Given the description of an element on the screen output the (x, y) to click on. 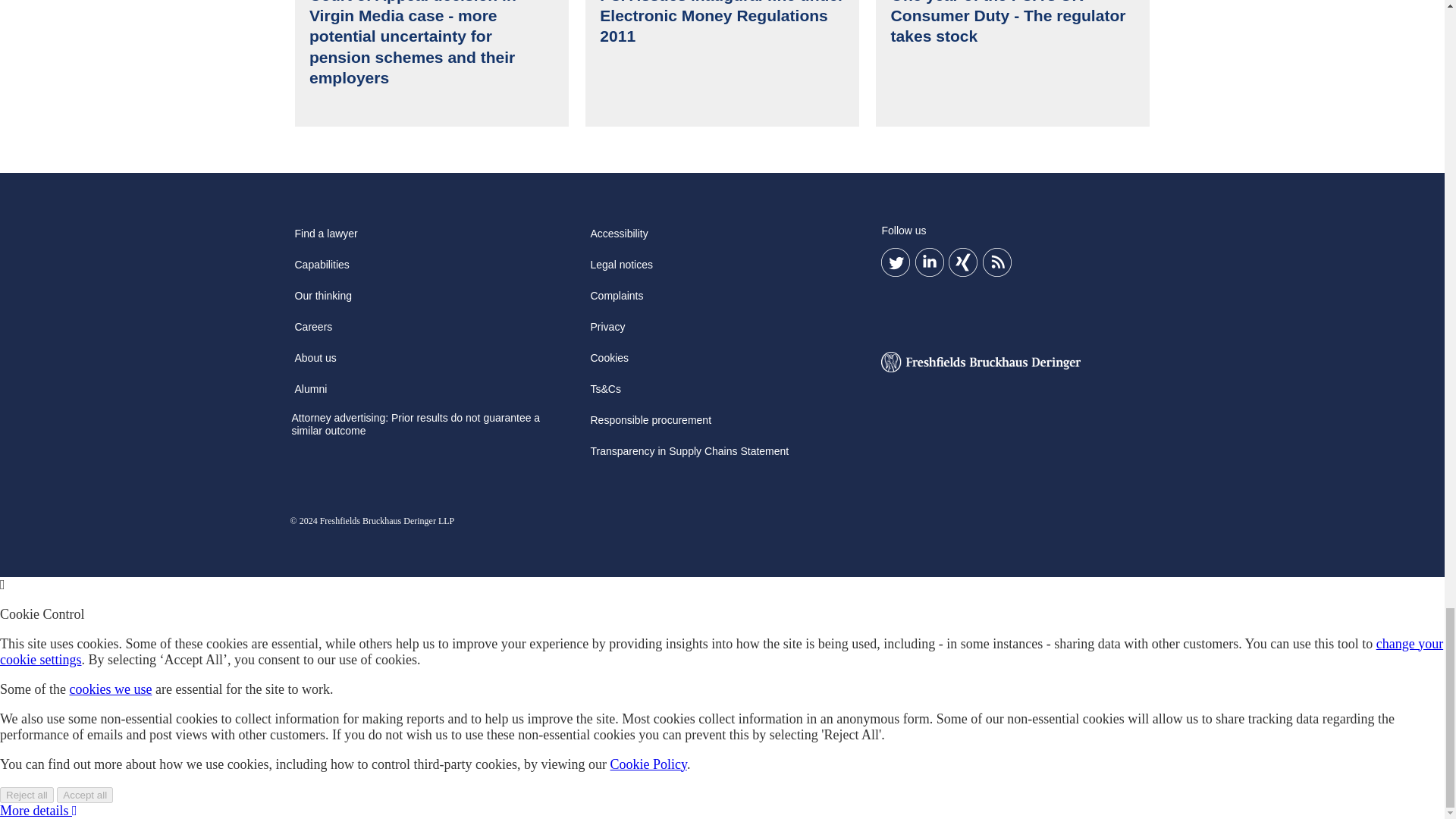
Alumni (310, 394)
Accessibility (618, 238)
Legal notices (621, 269)
About us (315, 363)
Transparency in Supply Chains Statement (689, 456)
Privacy (606, 331)
Find a lawyer (325, 238)
Complaints (616, 300)
Careers (312, 331)
Responsible procurement (650, 425)
Cookies (608, 363)
Capabilities (321, 269)
Our thinking (322, 300)
